Given the description of an element on the screen output the (x, y) to click on. 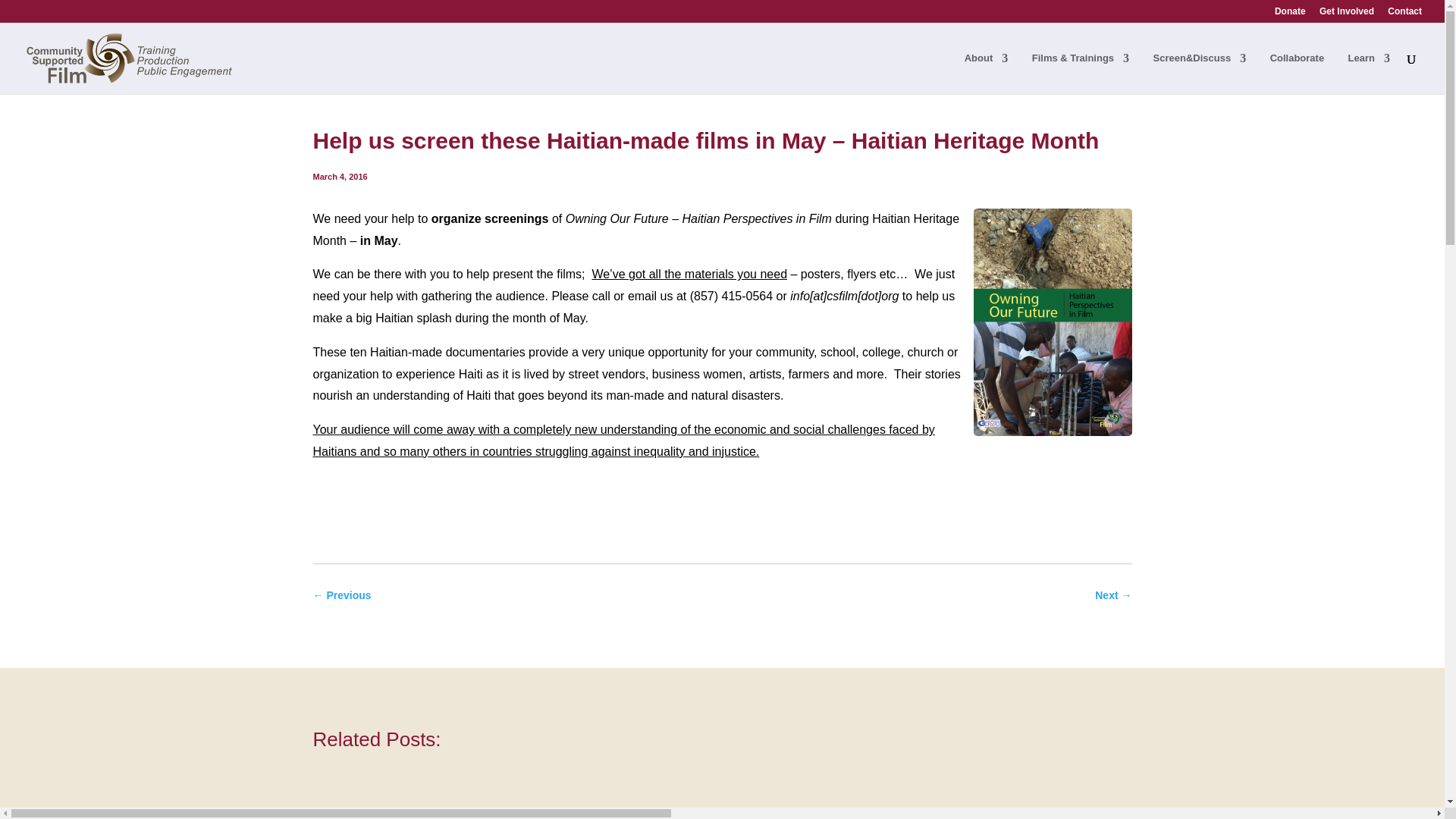
Collaborate (1296, 73)
Get Involved (1346, 14)
Get Involved (1346, 14)
Contact (1404, 14)
Donate (1290, 14)
Donate (1290, 14)
Contact (1404, 14)
About (986, 73)
Learn (1369, 73)
